Given the description of an element on the screen output the (x, y) to click on. 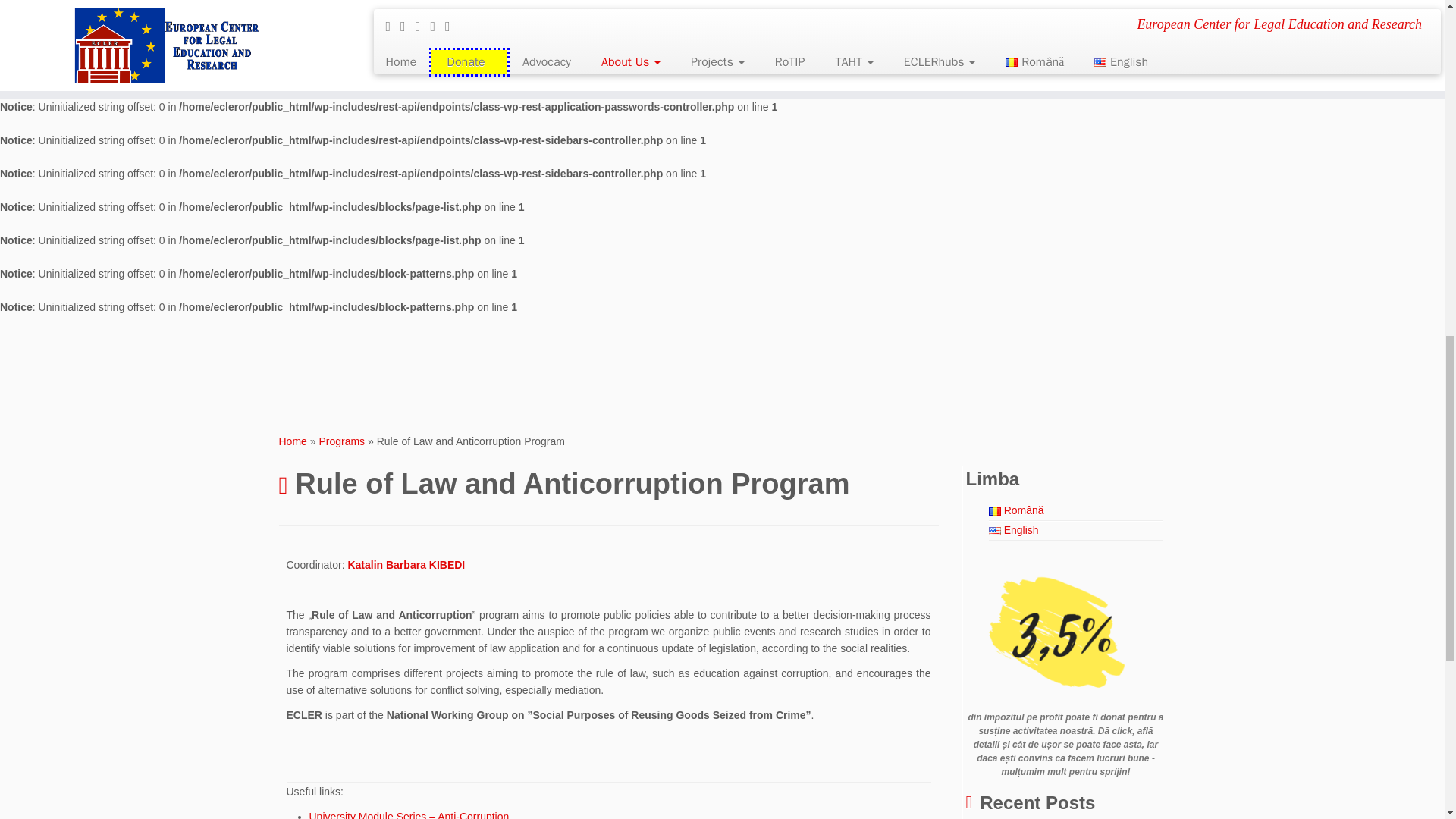
Programs (341, 440)
ECLER (293, 440)
